Given the description of an element on the screen output the (x, y) to click on. 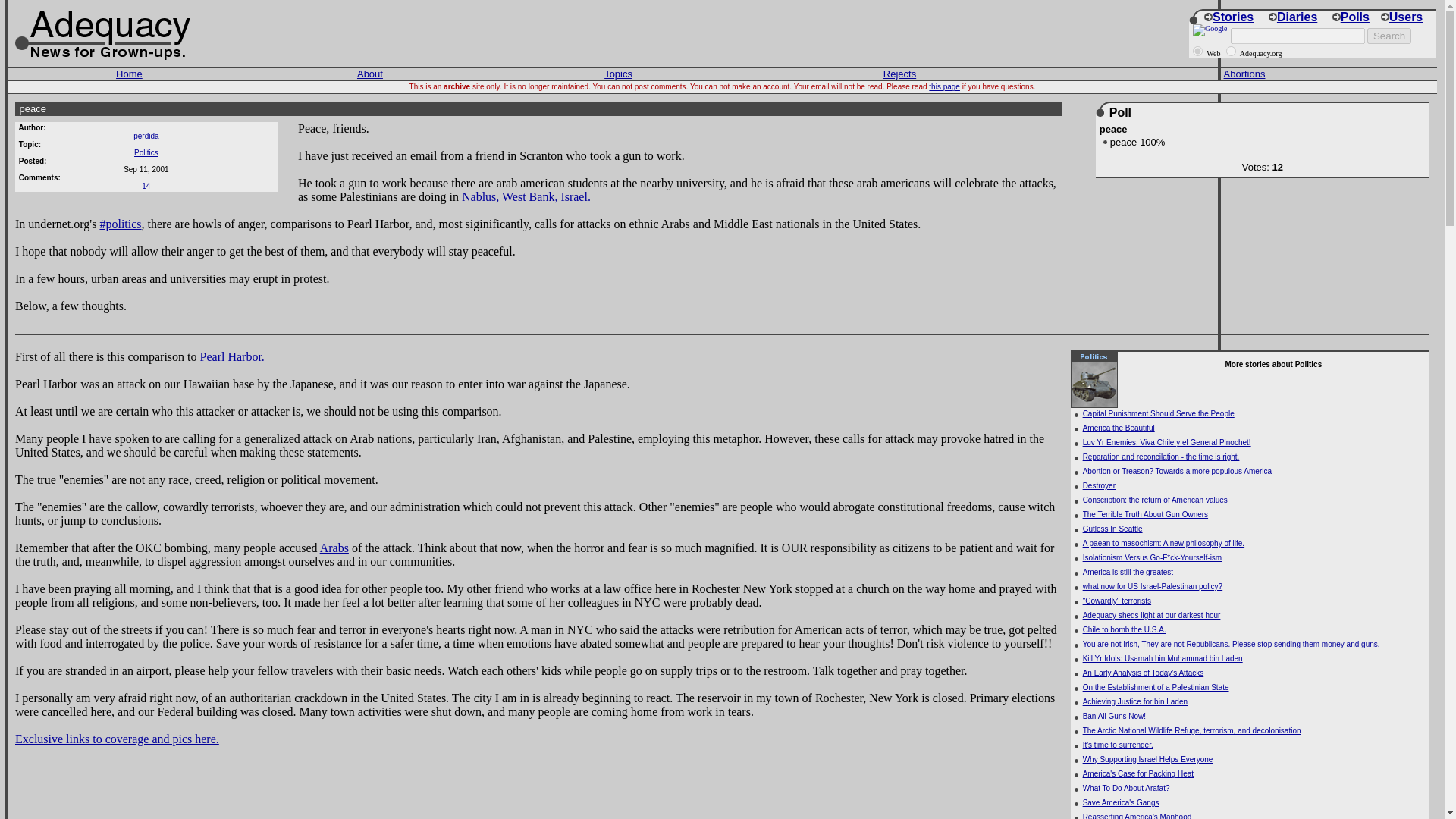
Chile to bomb the U.S.A. (1124, 629)
Abortions (1244, 73)
Achieving Justice for bin Laden (1135, 701)
On the Establishment of a Palestinian State (1155, 687)
Gutless In Seattle (1112, 528)
perdida (145, 135)
Diaries (1292, 16)
Search (1388, 35)
"Cowardly" terrorists (1117, 601)
America the Beautiful (1118, 428)
The Terrible Truth About Gun Owners (1145, 514)
Stories (1228, 16)
A paean to masochism: A new philosophy of life. (1163, 542)
Luv Yr Enemies: Viva Chile y el General Pinochet! (1166, 442)
America is still the greatest (1128, 572)
